Given the description of an element on the screen output the (x, y) to click on. 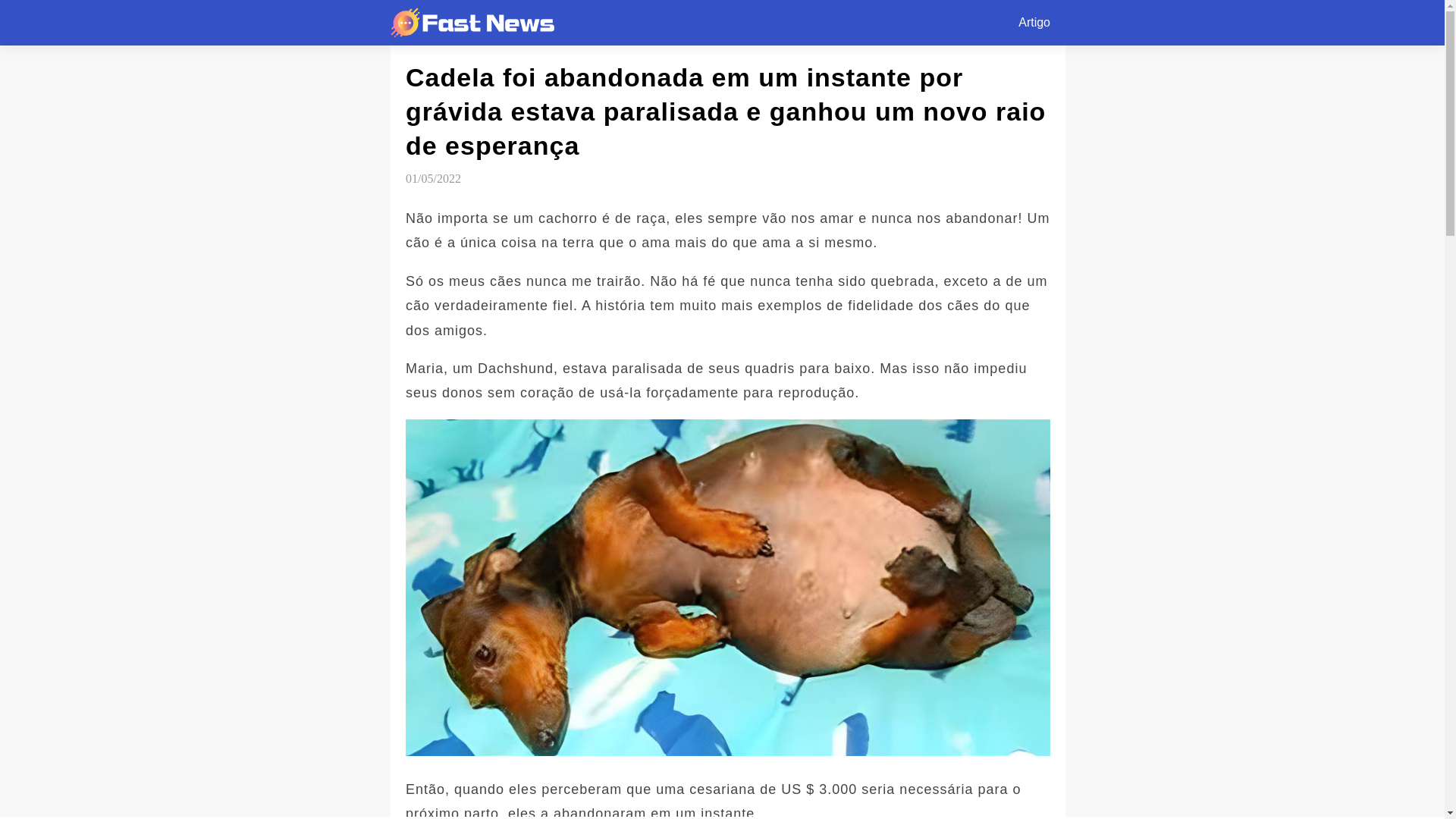
Artigo Element type: text (1034, 22)
